Given the description of an element on the screen output the (x, y) to click on. 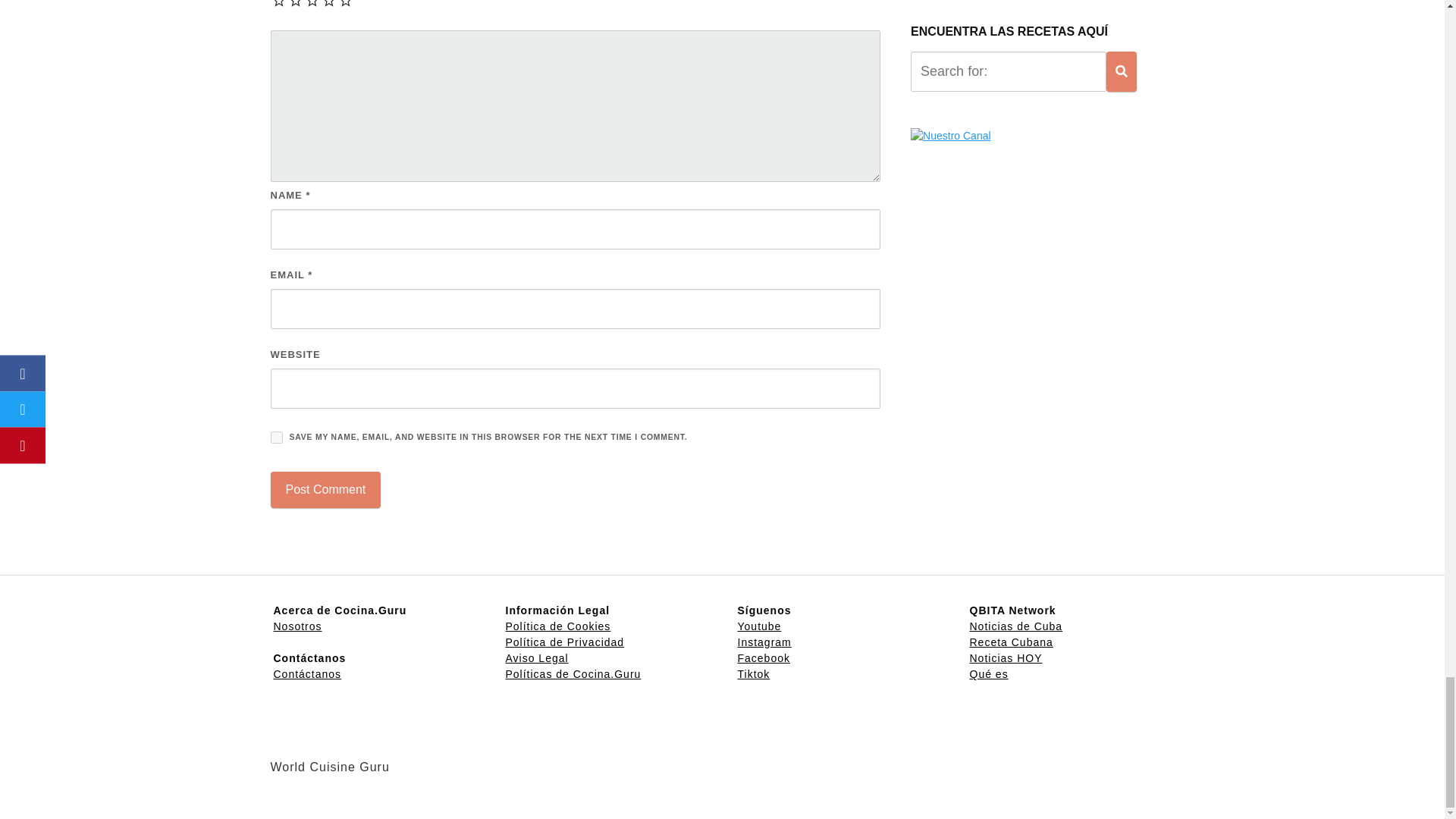
Post Comment (324, 489)
yes (275, 437)
Nosotros (297, 625)
Post Comment (324, 489)
